Given the description of an element on the screen output the (x, y) to click on. 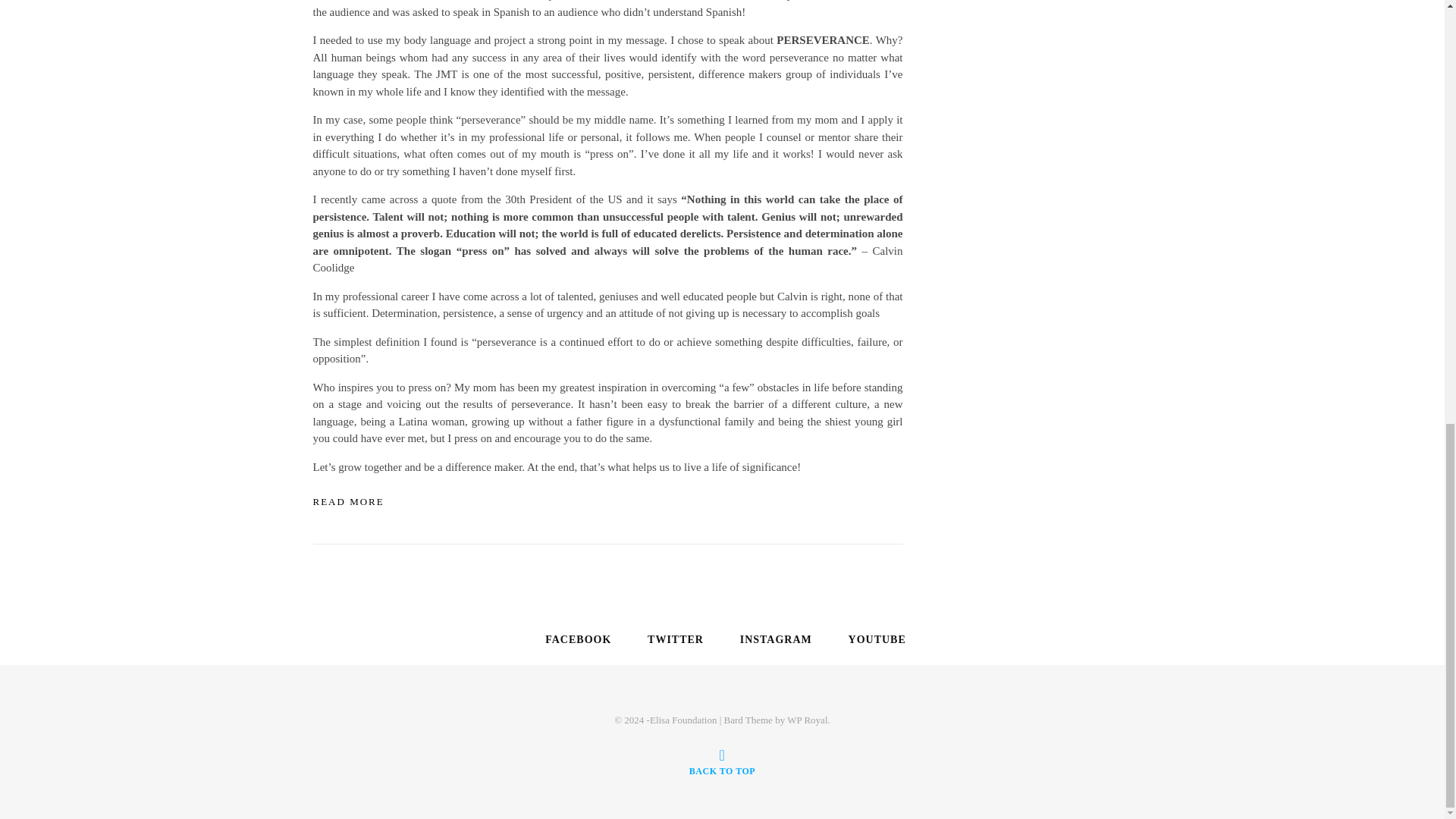
FACEBOOK (574, 639)
BACK TO TOP (722, 762)
YOUTUBE (873, 639)
INSTAGRAM (772, 639)
WP Royal (807, 719)
READ MORE (348, 501)
TWITTER (671, 639)
